Given the description of an element on the screen output the (x, y) to click on. 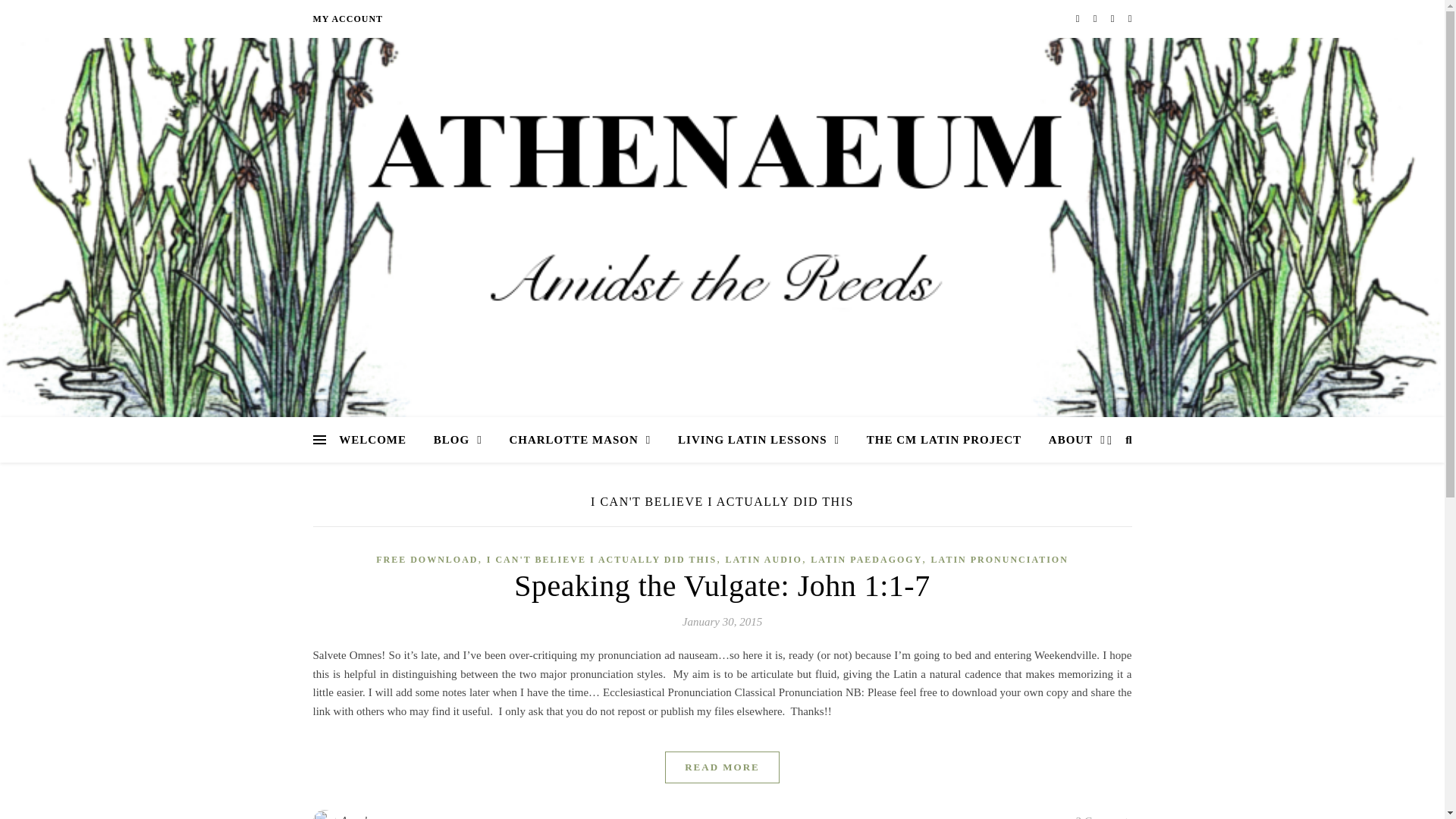
THE CM LATIN PROJECT (943, 439)
MY ACCOUNT (347, 18)
ABOUT (1070, 439)
LIVING LATIN LESSONS (758, 439)
CHARLOTTE MASON (579, 439)
Posts by Angela (357, 814)
BLOG (458, 439)
WELCOME (379, 439)
